Given the description of an element on the screen output the (x, y) to click on. 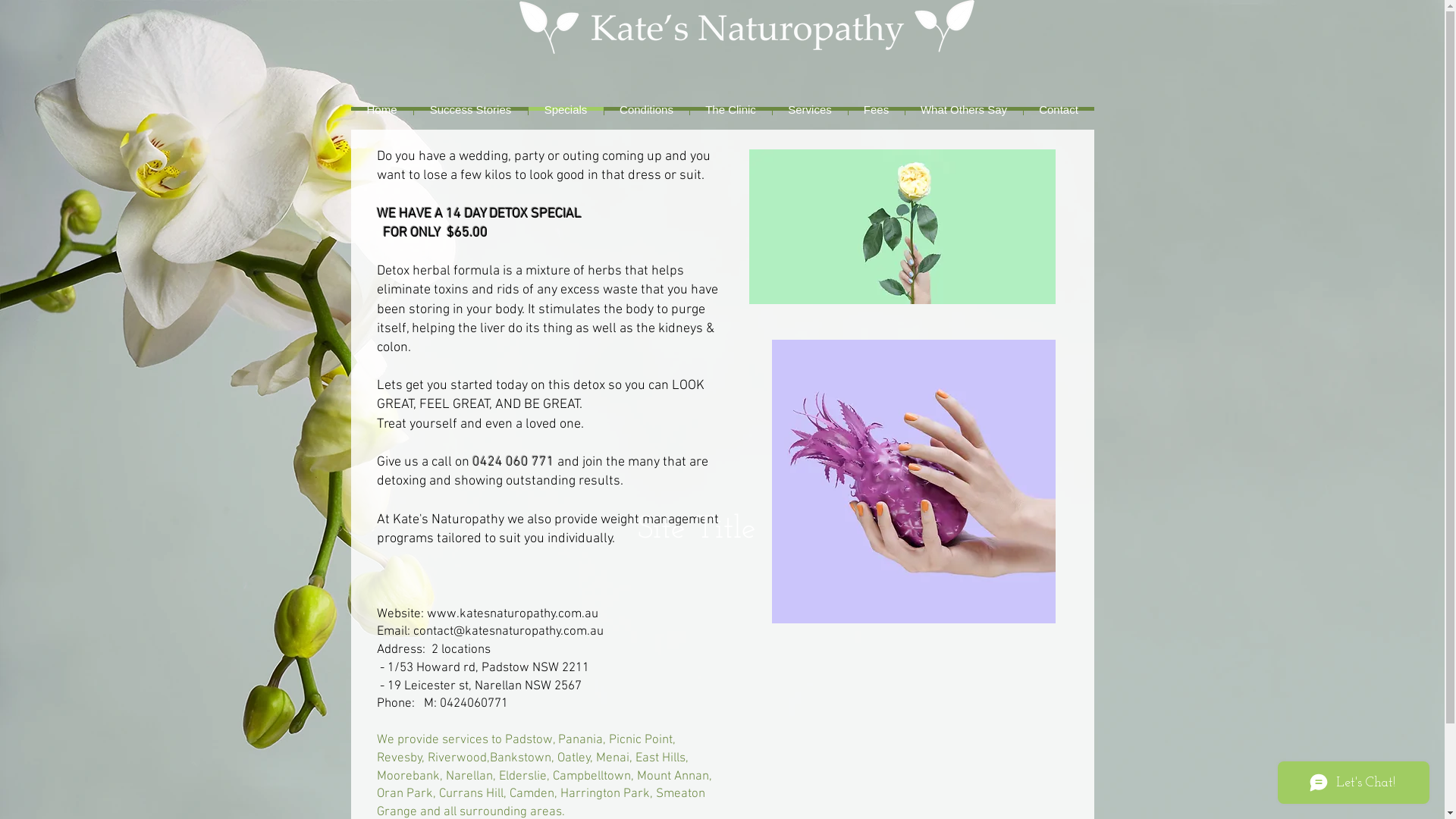
Success Stories Element type: text (469, 108)
Services Element type: text (809, 108)
Contact Element type: text (1057, 108)
contact@katesnaturopathy.com.au Element type: text (507, 631)
Specials Element type: text (565, 108)
Fees Element type: text (875, 108)
What Others Say Element type: text (962, 108)
www.katesnaturopathy.com.au Element type: text (511, 613)
The Clinic Element type: text (729, 108)
Home Element type: text (381, 108)
Conditions Element type: text (646, 108)
